Given the description of an element on the screen output the (x, y) to click on. 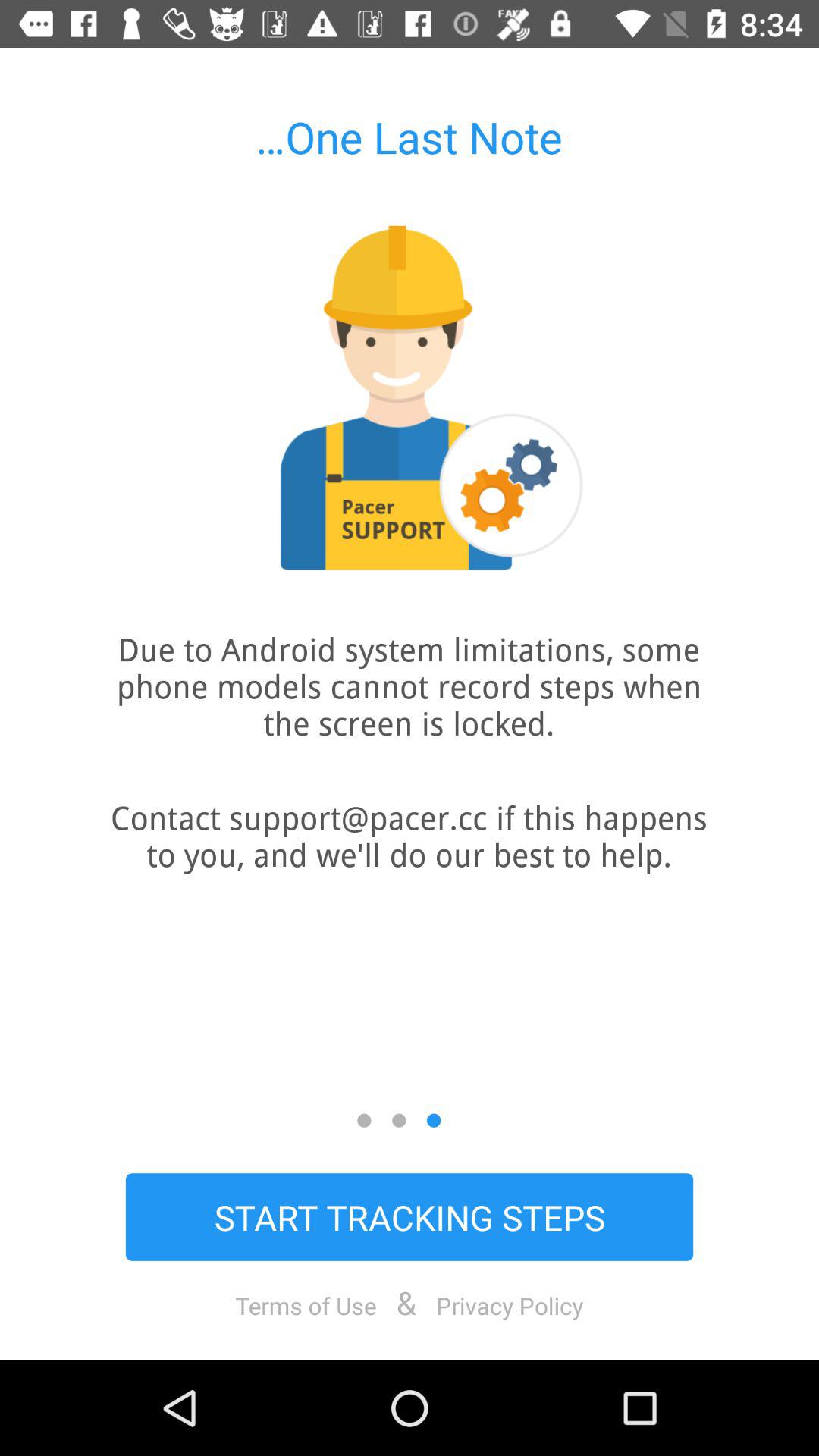
open terms of use icon (305, 1305)
